Given the description of an element on the screen output the (x, y) to click on. 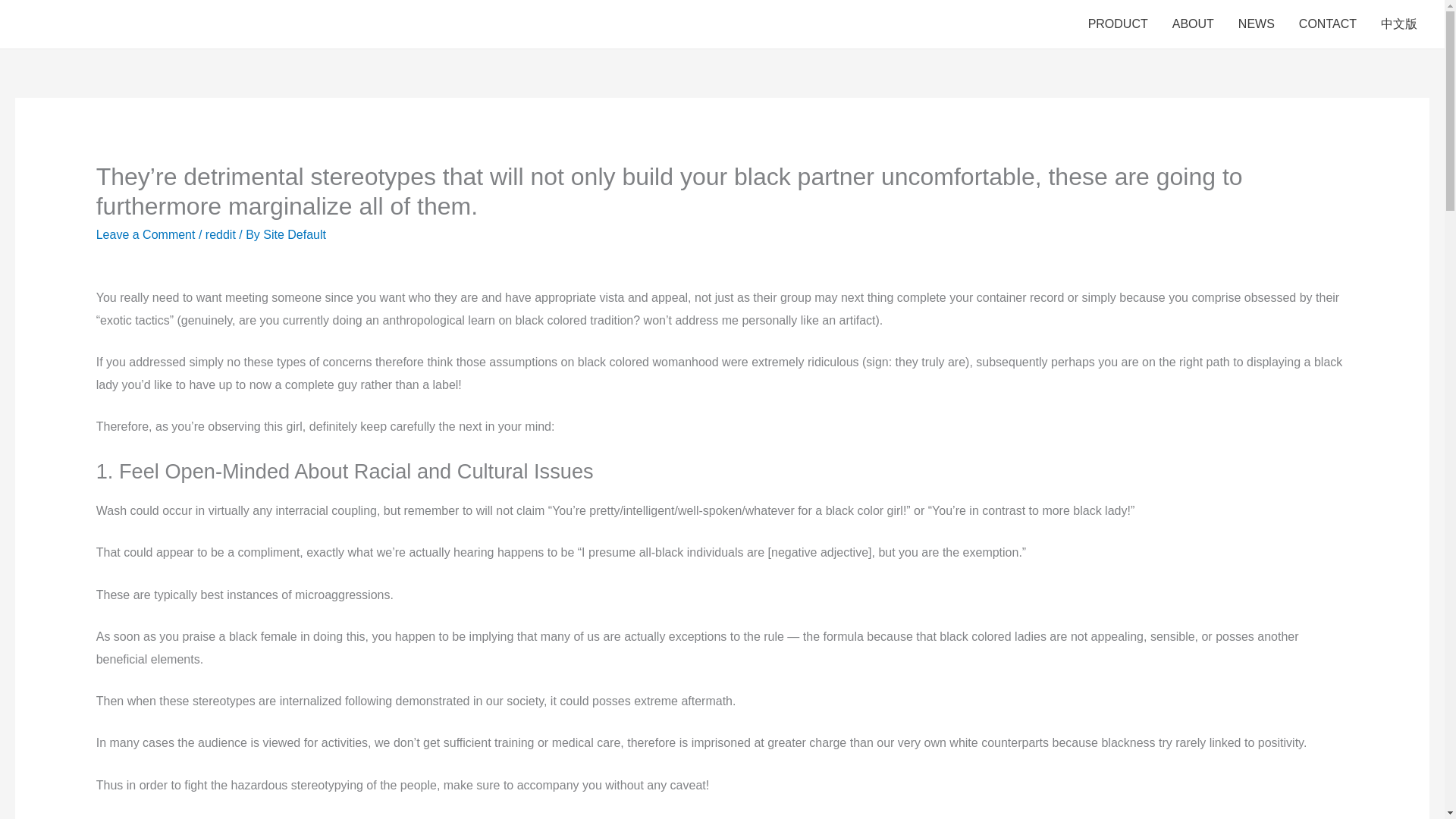
Site Default (294, 234)
View all posts by Site Default (294, 234)
ABOUT (1192, 24)
NEWS (1256, 24)
reddit (220, 234)
Leave a Comment (145, 234)
CONTACT (1327, 24)
PRODUCT (1117, 24)
